Given the description of an element on the screen output the (x, y) to click on. 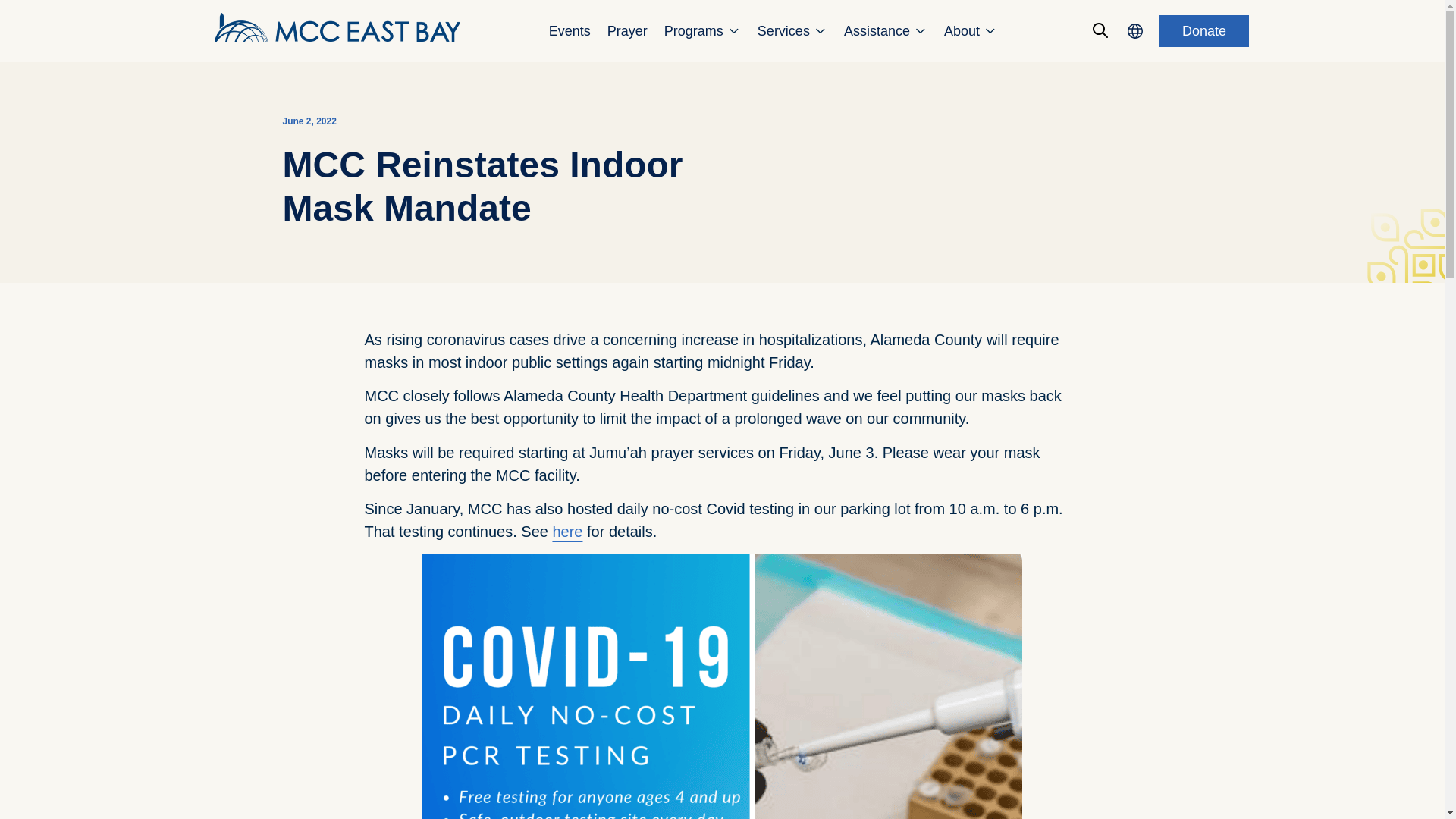
About (961, 31)
Programs (693, 31)
Donate (1203, 30)
Assistance (877, 31)
Prayer (627, 31)
Events (569, 31)
Services (783, 31)
